Given the description of an element on the screen output the (x, y) to click on. 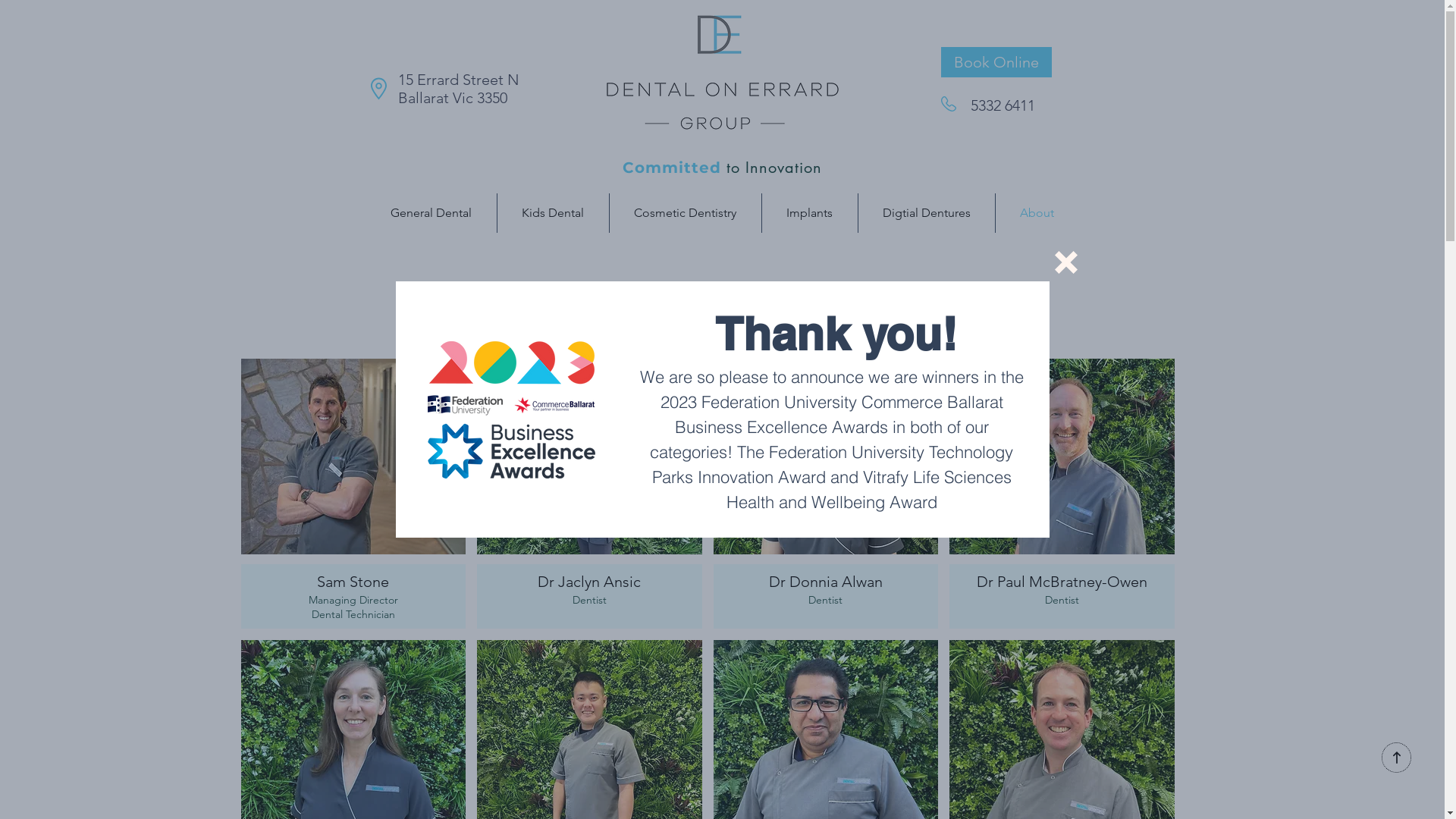
Book Online Element type: text (995, 62)
Kids Dental Element type: text (552, 212)
Implants Element type: text (808, 212)
Digtial Dentures Element type: text (926, 212)
About Element type: text (1035, 212)
Cosmetic Dentistry Element type: text (685, 212)
Back to site Element type: hover (1065, 262)
BEA23_Logo.png Element type: hover (511, 409)
General Dental Element type: text (430, 212)
